Given the description of an element on the screen output the (x, y) to click on. 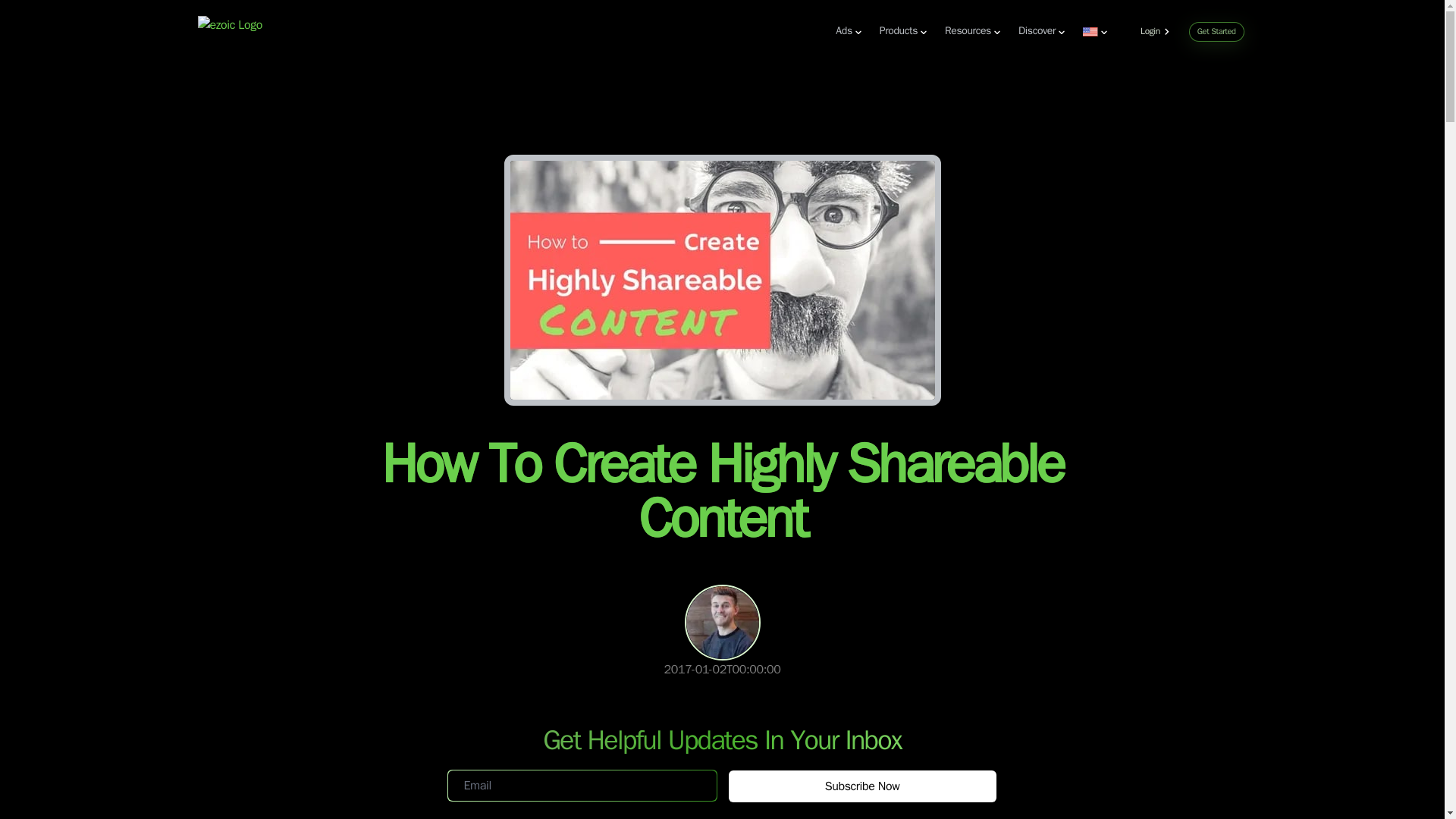
Login (1158, 32)
Get Started (1216, 32)
Subscribe Now (861, 786)
